Given the description of an element on the screen output the (x, y) to click on. 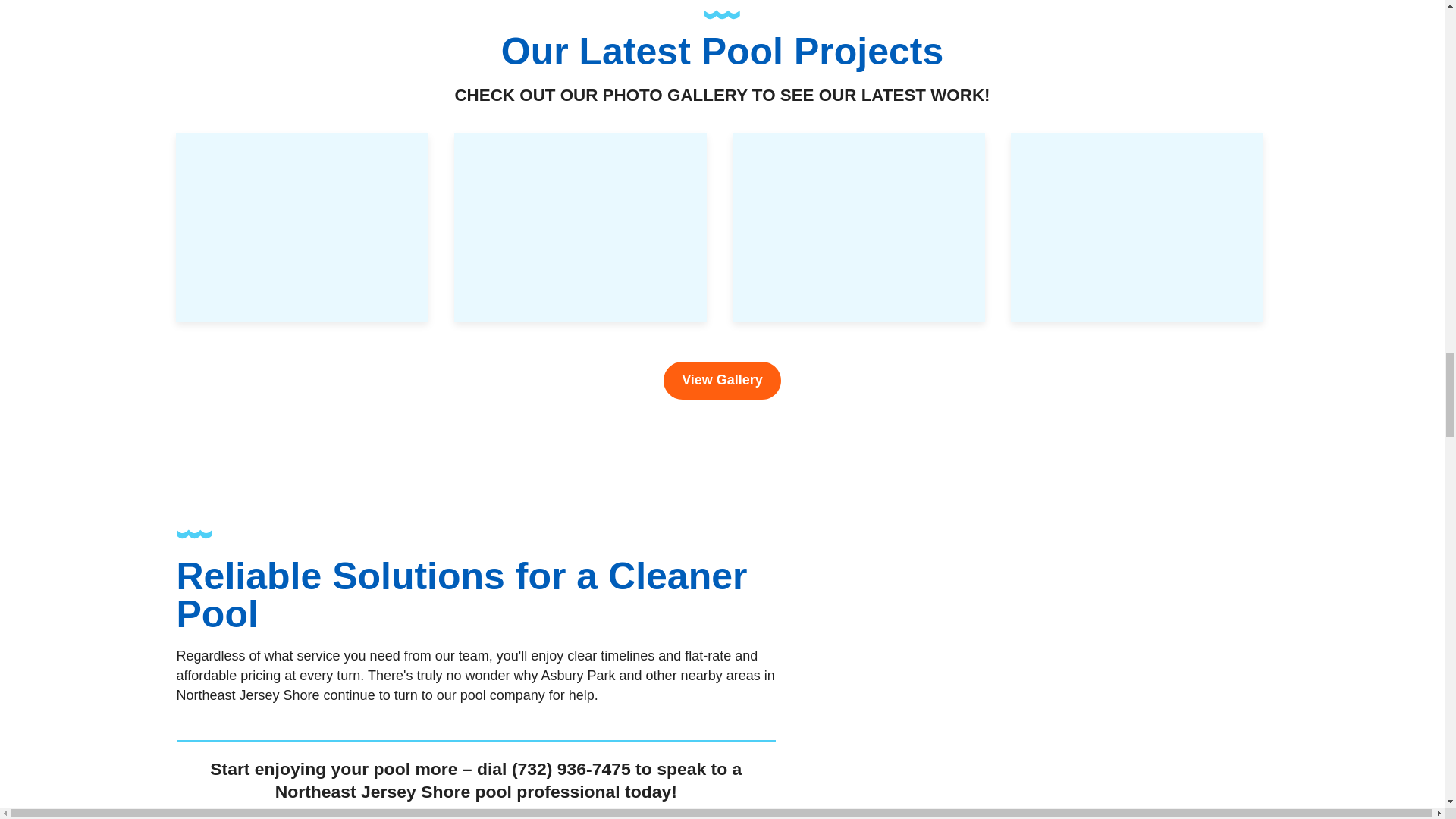
New Concrete (858, 227)
New Concrete (1136, 227)
Before Paint (579, 227)
After Paint (302, 227)
